Given the description of an element on the screen output the (x, y) to click on. 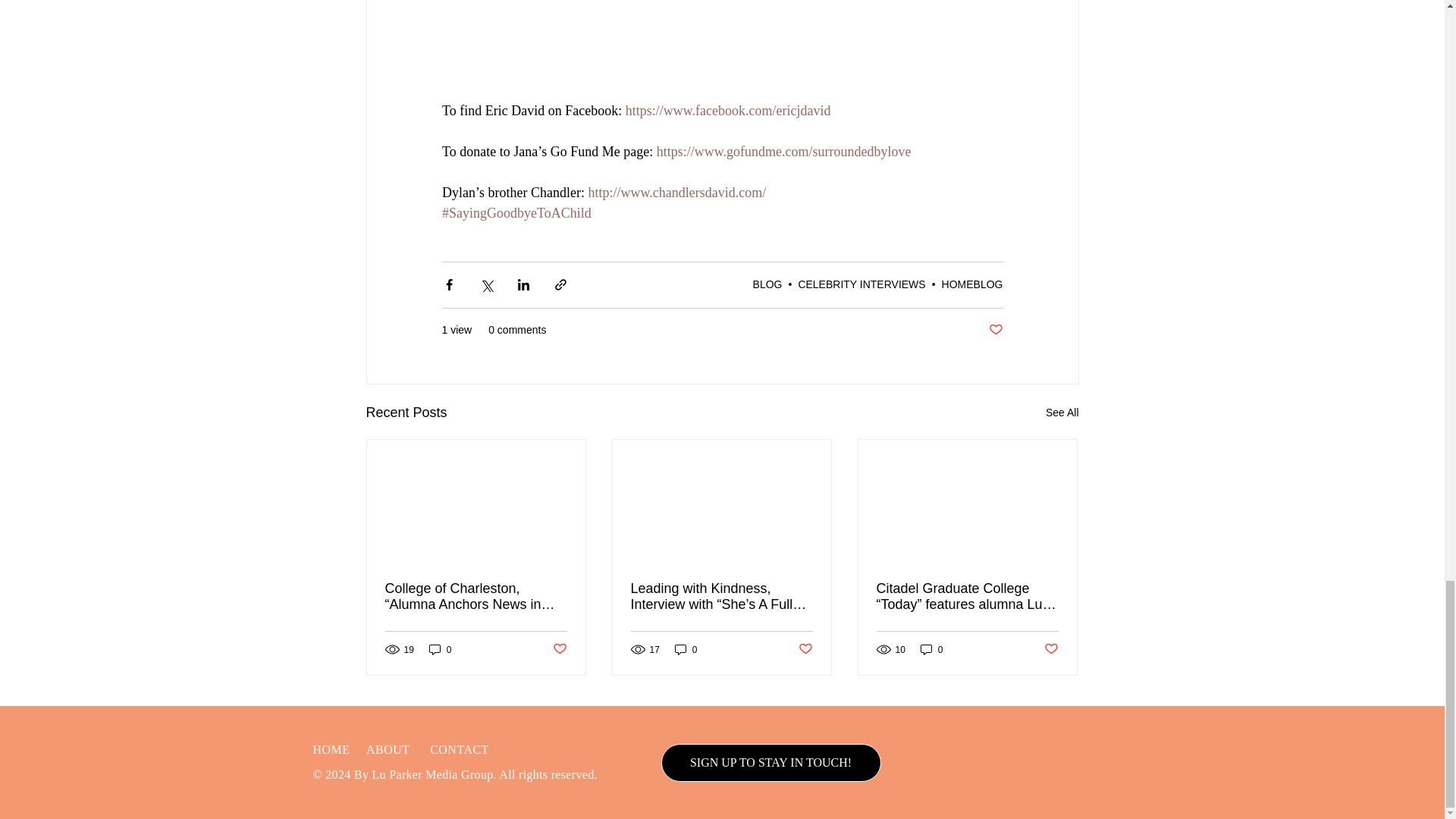
See All (1061, 413)
Post not marked as liked (558, 649)
Post not marked as liked (995, 330)
0 (440, 649)
CELEBRITY INTERVIEWS (860, 284)
remote content (721, 49)
HOMEBLOG (972, 284)
BLOG (767, 284)
